Given the description of an element on the screen output the (x, y) to click on. 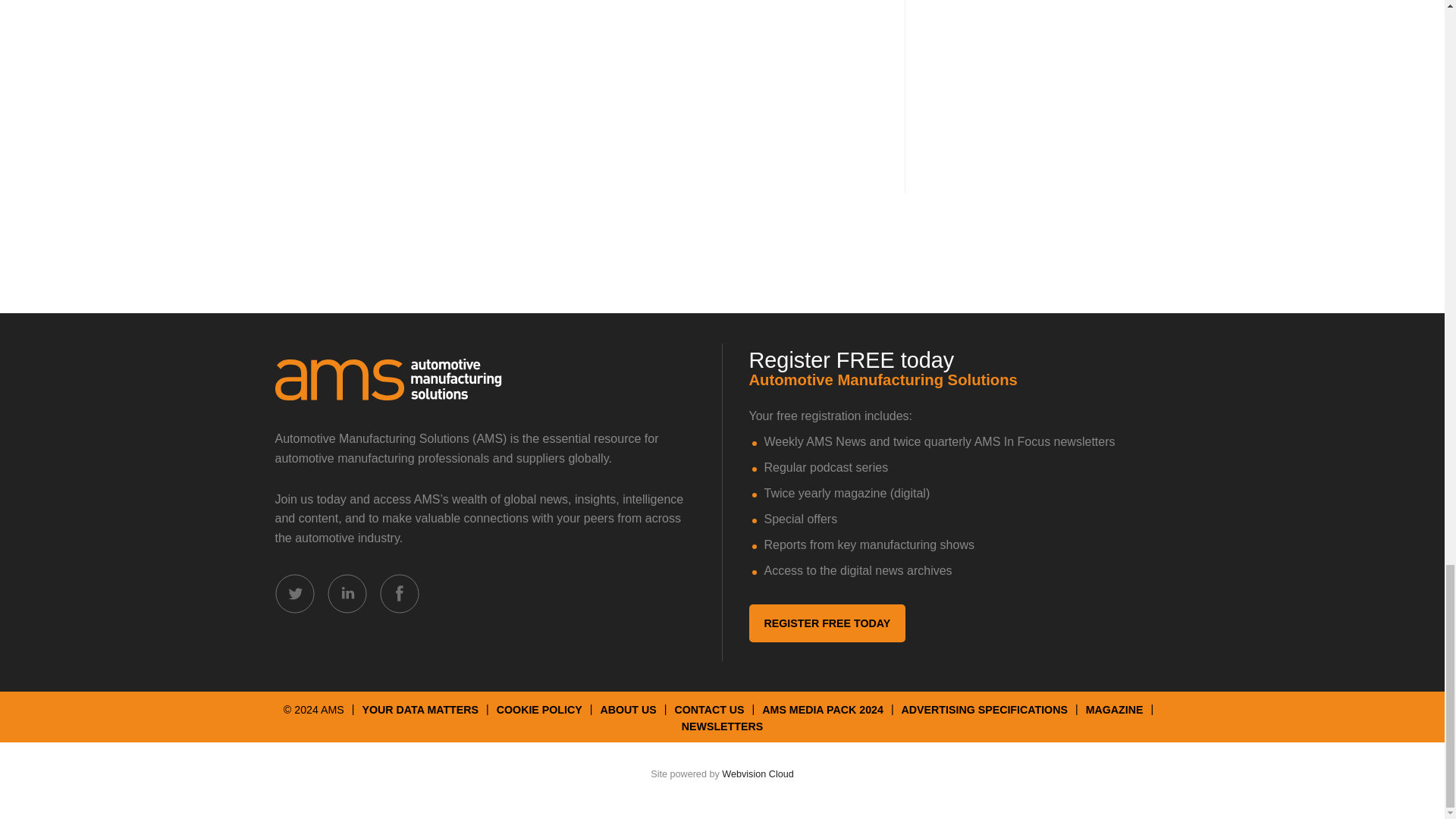
Connect with us on Twitter (294, 593)
Connect with us on Linked In (346, 593)
Connect with us on Facebook (399, 593)
